Given the description of an element on the screen output the (x, y) to click on. 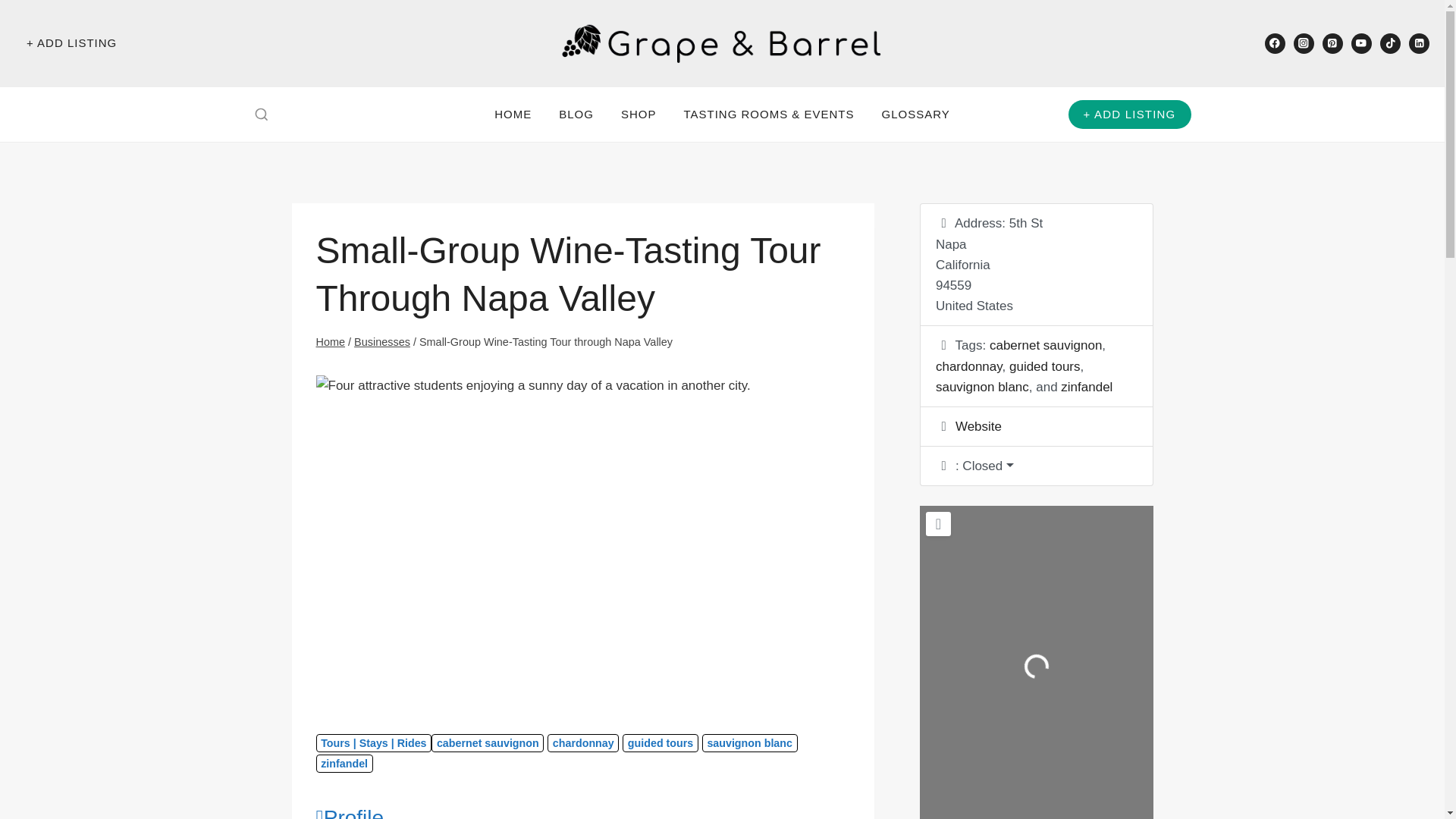
sauvignon blanc (749, 742)
Expand opening hours (982, 465)
cabernet sauvignon (1046, 345)
zinfandel (343, 763)
GLOSSARY (915, 114)
chardonnay (582, 742)
chardonnay (969, 366)
HOME (512, 114)
guided tours (660, 742)
